Given the description of an element on the screen output the (x, y) to click on. 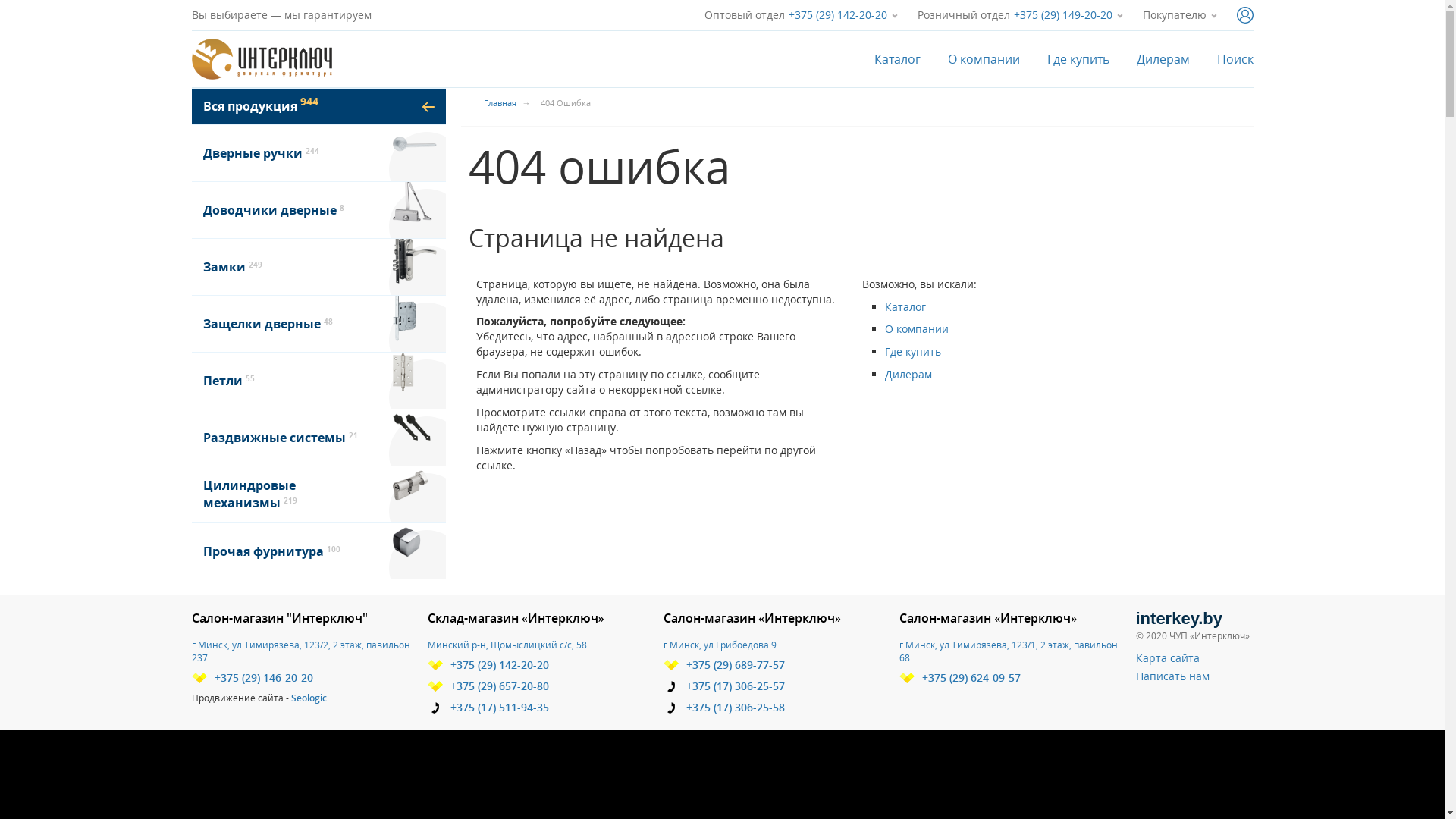
+375 (17) 306-25-57 Element type: text (723, 685)
velcom.png Element type: hover (906, 677)
+375 (29) 657-20-80 Element type: text (488, 685)
gor.png Element type: hover (670, 686)
+375 (29) 149-20-20 Element type: text (1062, 14)
gor.png Element type: hover (434, 707)
+375 (29) 624-09-57 Element type: text (959, 677)
Seologic Element type: text (308, 697)
velcom.png Element type: hover (670, 664)
+375 (17) 511-94-35 Element type: text (488, 707)
velcom.png Element type: hover (434, 664)
+375 (29) 146-20-20 Element type: text (251, 677)
velcom.png Element type: hover (198, 677)
+375 (29) 142-20-20 Element type: text (488, 664)
gor.png Element type: hover (670, 707)
+375 (29) 142-20-20 Element type: text (837, 14)
+375 (29) 689-77-57 Element type: text (723, 664)
+375 (17) 306-25-58 Element type: text (723, 707)
velcom.png Element type: hover (434, 685)
